Given the description of an element on the screen output the (x, y) to click on. 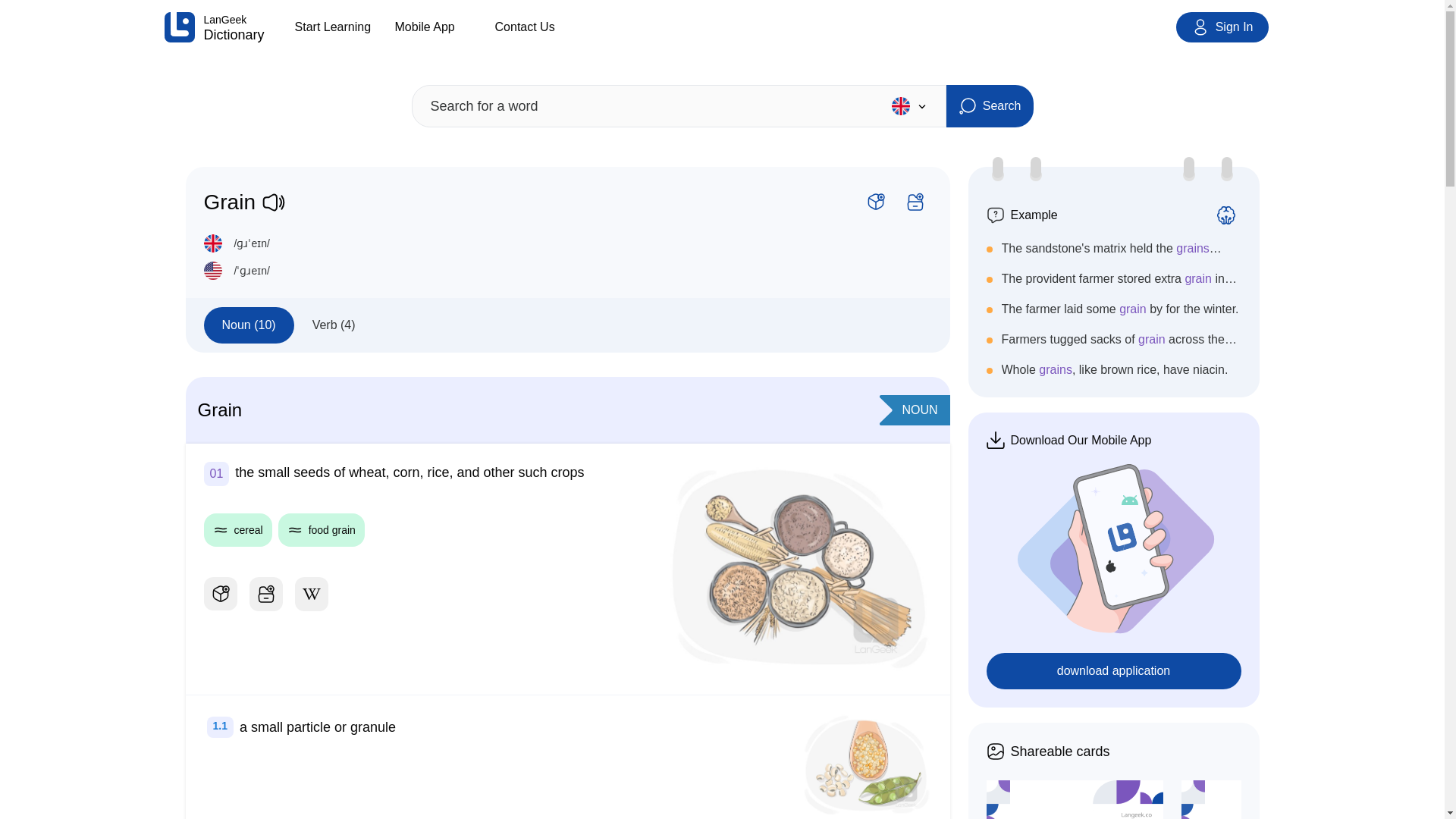
Contact Us (537, 27)
Add to your wordlist (265, 593)
wikipedia link (310, 593)
cereal (236, 530)
Mobile App (437, 27)
food grain (321, 530)
grain definition and meaning (796, 568)
grain definition and meaning (865, 764)
Add to your wordlist (914, 201)
"grain" in Wikipedia (310, 594)
Start Learning (337, 27)
Sign In (1222, 27)
NOUN (919, 409)
